Given the description of an element on the screen output the (x, y) to click on. 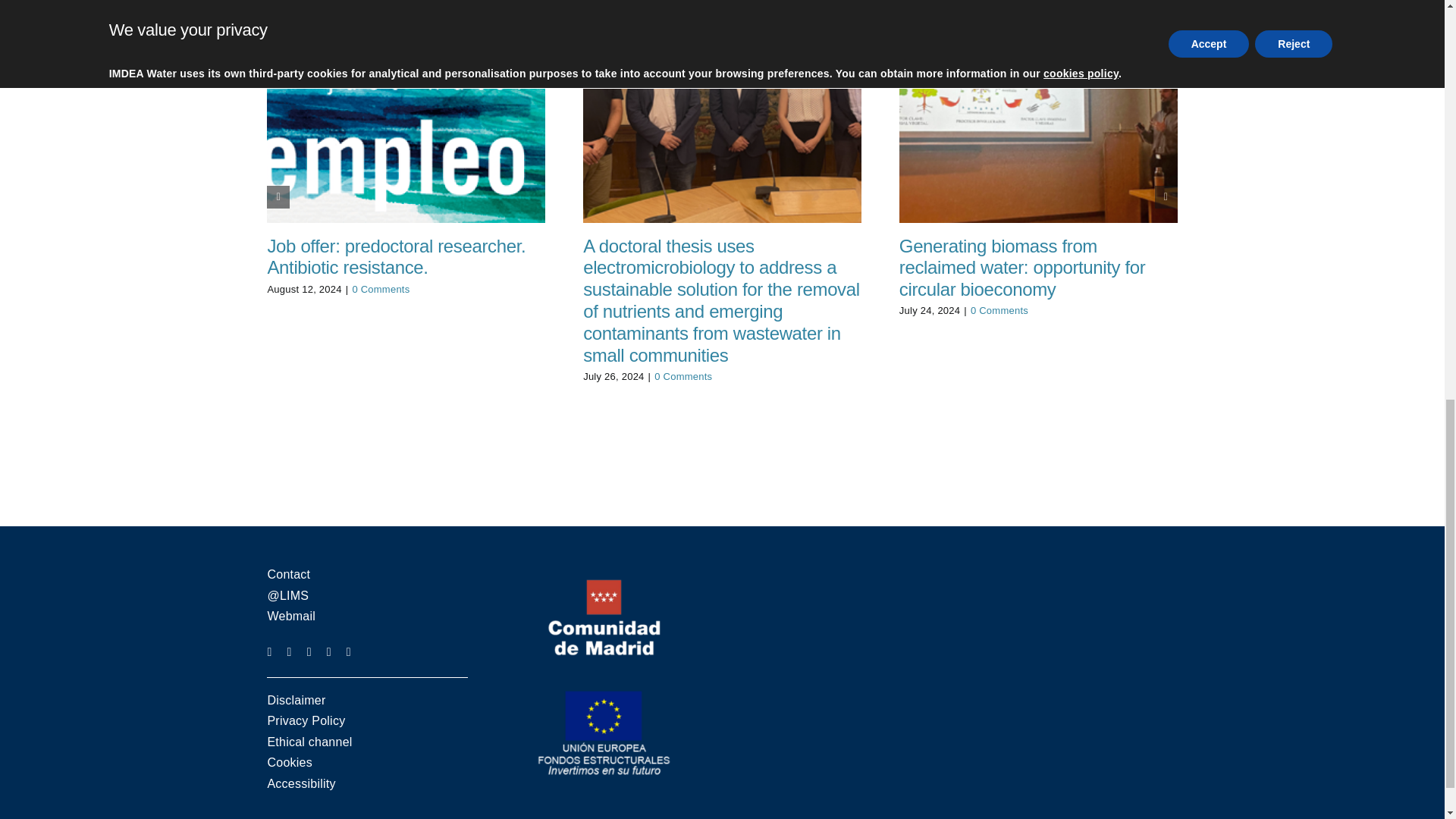
Job offer: predoctoral researcher. Antibiotic resistance. (395, 256)
